Given the description of an element on the screen output the (x, y) to click on. 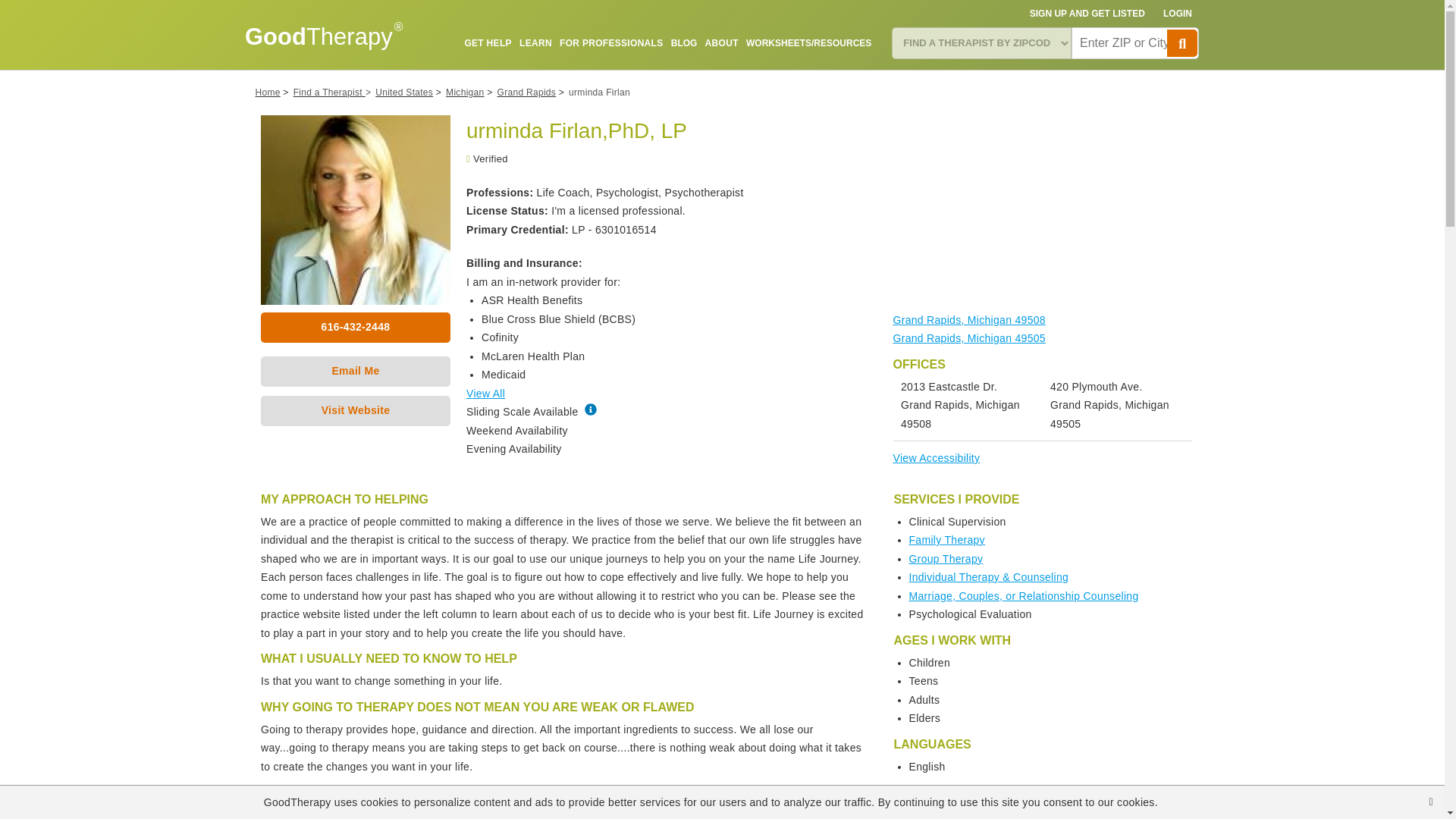
BLOG (684, 42)
NEWSLETTER (840, 77)
LOGIN (1177, 13)
SIGN UP AND GET LISTED (1087, 13)
P (1181, 42)
